Given the description of an element on the screen output the (x, y) to click on. 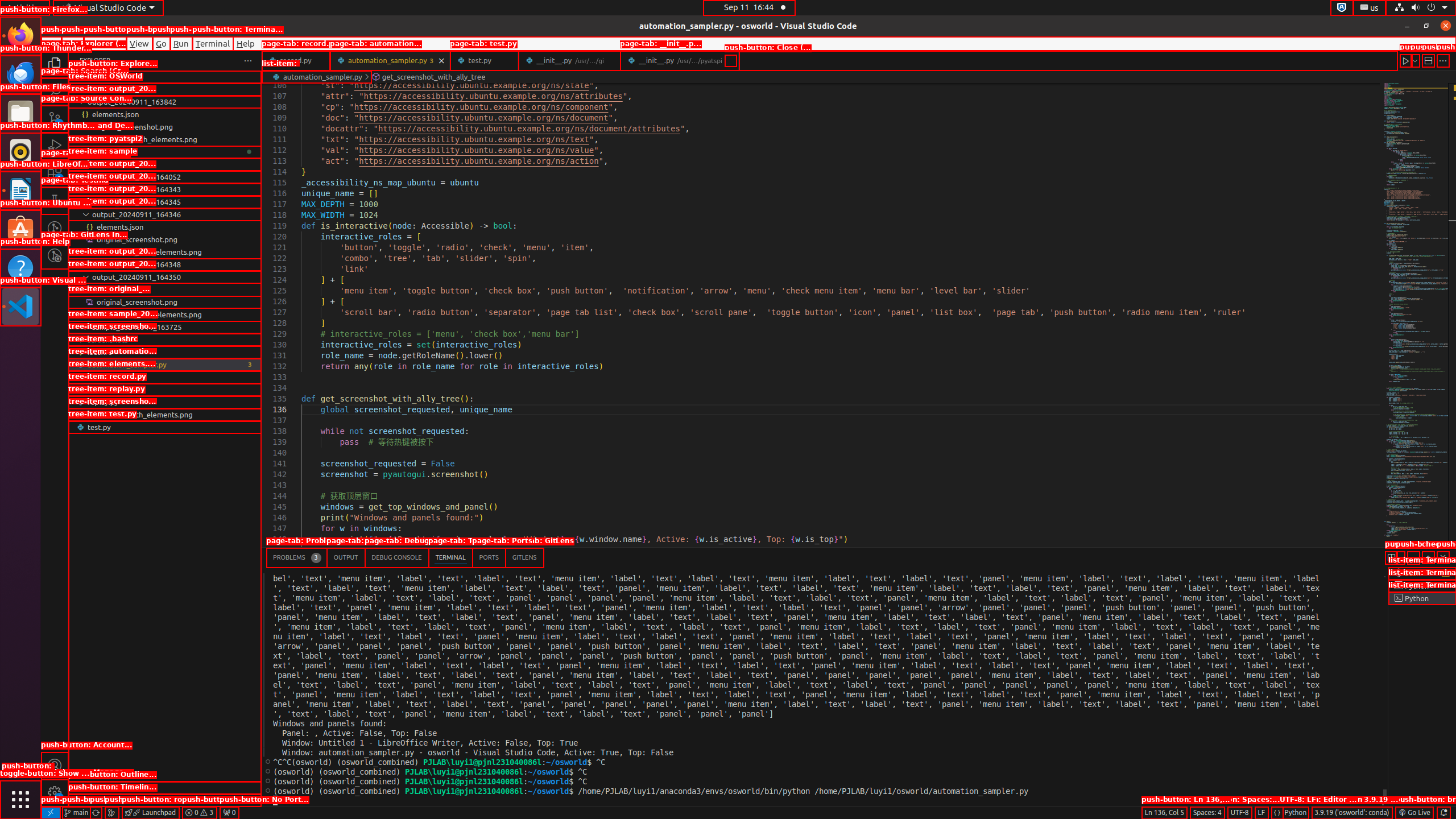
pyatspi2 Element type: tree-item (164, 151)
automation_sampler.py Element type: page-tab (389, 60)
output_20240911_163842 Element type: tree-item (164, 101)
Run and Debug (Ctrl+Shift+D) Element type: page-tab (54, 145)
